Given the description of an element on the screen output the (x, y) to click on. 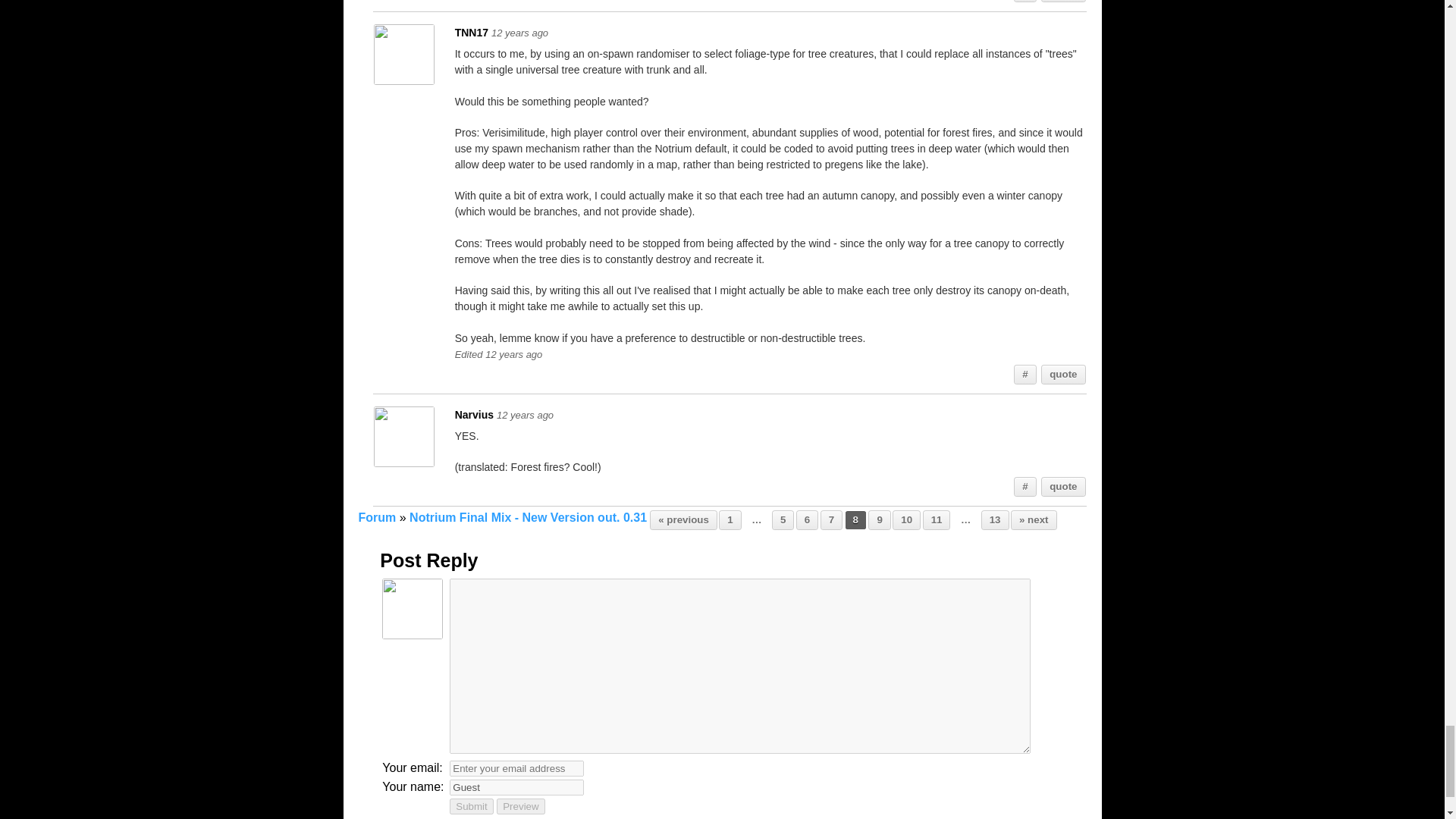
Preview (520, 806)
Submit (471, 806)
Guest (516, 787)
